Given the description of an element on the screen output the (x, y) to click on. 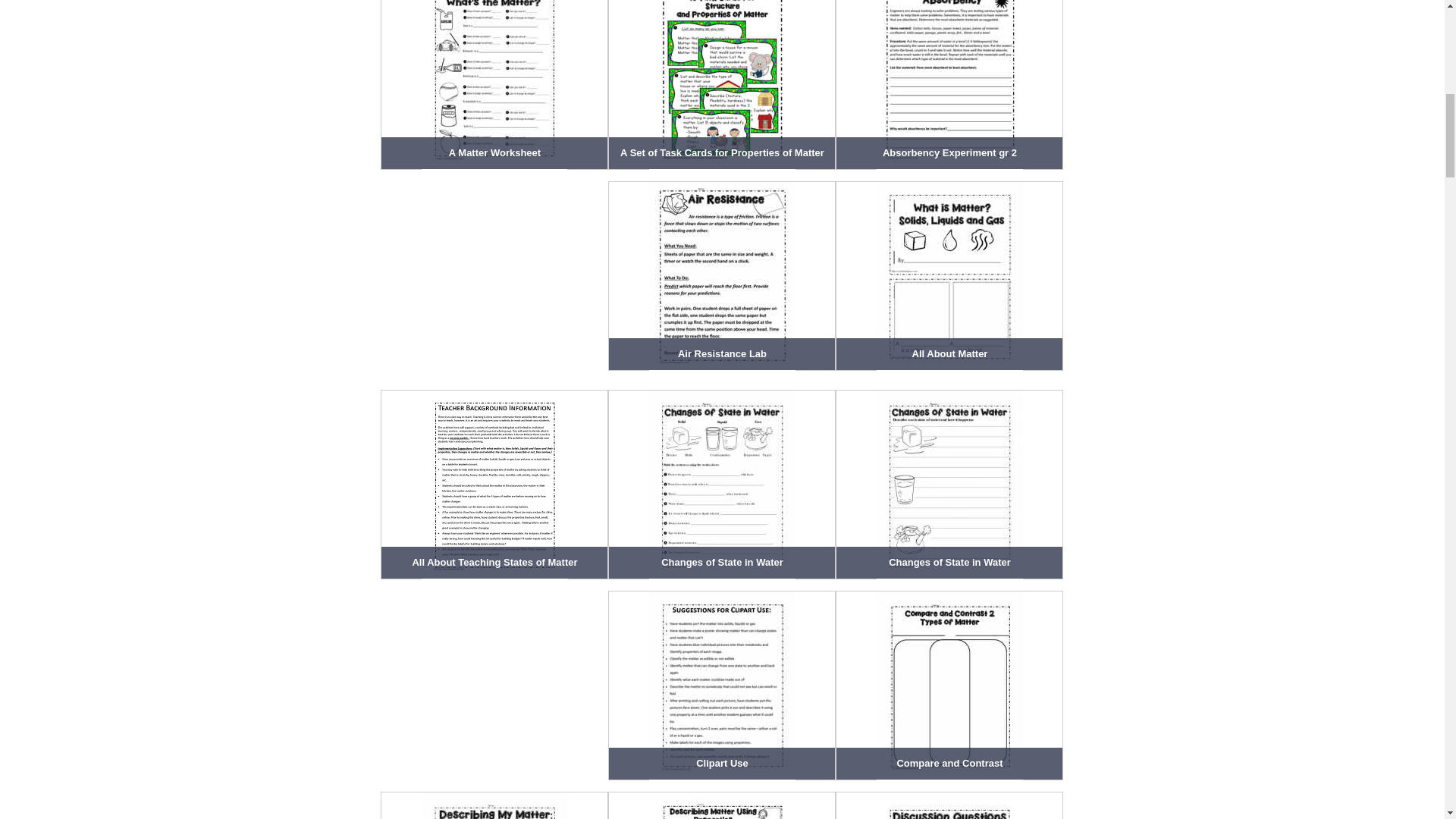
Absorbency Experiment gr 2 (948, 84)
Describe the Matter (494, 805)
Discussion Questions (948, 805)
A Set of Task Cards for Properties of Matter (721, 84)
Air Resistance Lab (721, 275)
Compare and Contrast (948, 685)
Describing Matter (721, 805)
Changes of State in Water (721, 484)
All About Matter (948, 275)
Changes of State in Water (948, 484)
All About Teaching States of Matter (494, 484)
A Matter Worksheet (494, 84)
Clipart Use (721, 685)
